Given the description of an element on the screen output the (x, y) to click on. 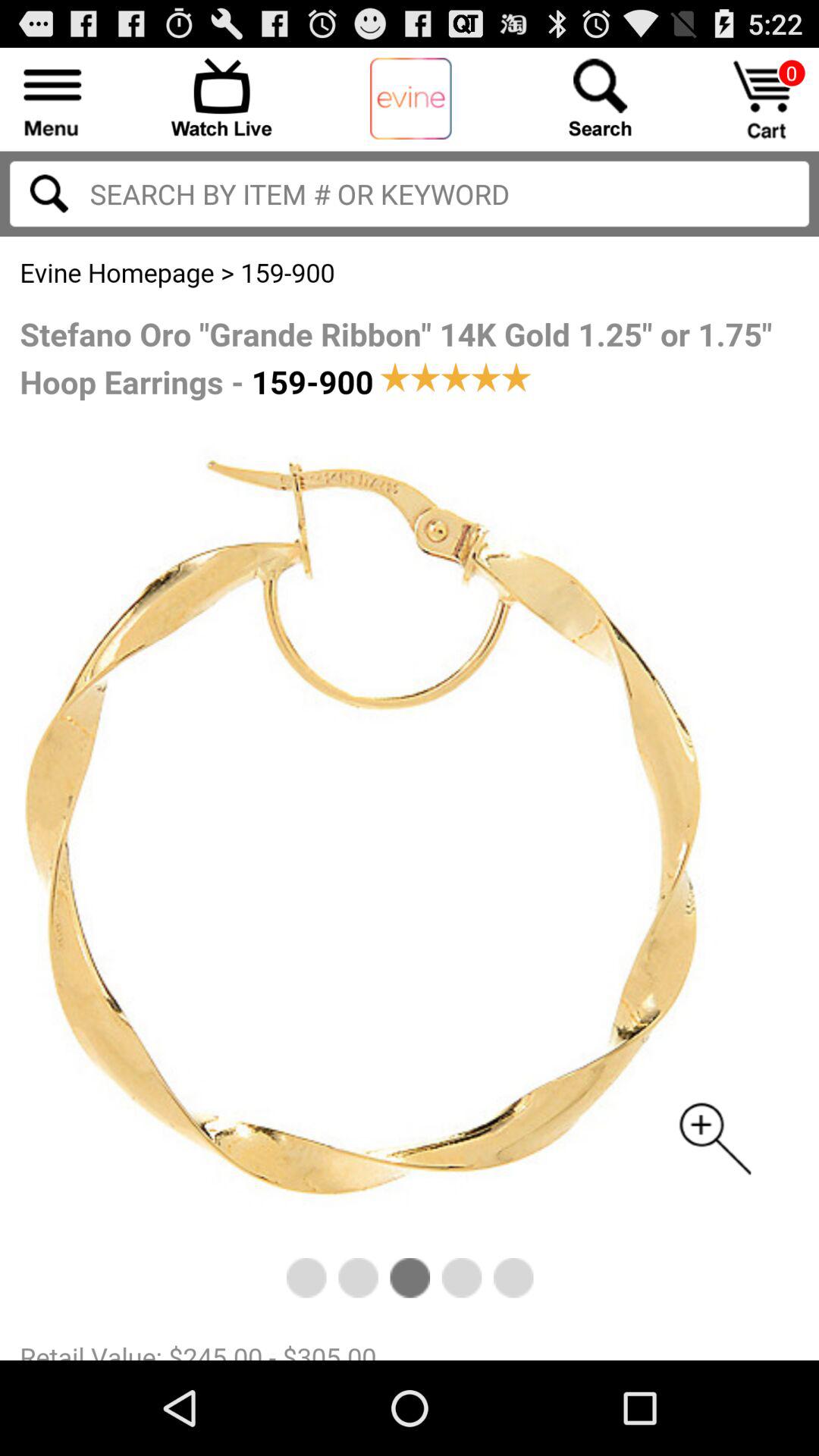
input search terms (49, 193)
